Given the description of an element on the screen output the (x, y) to click on. 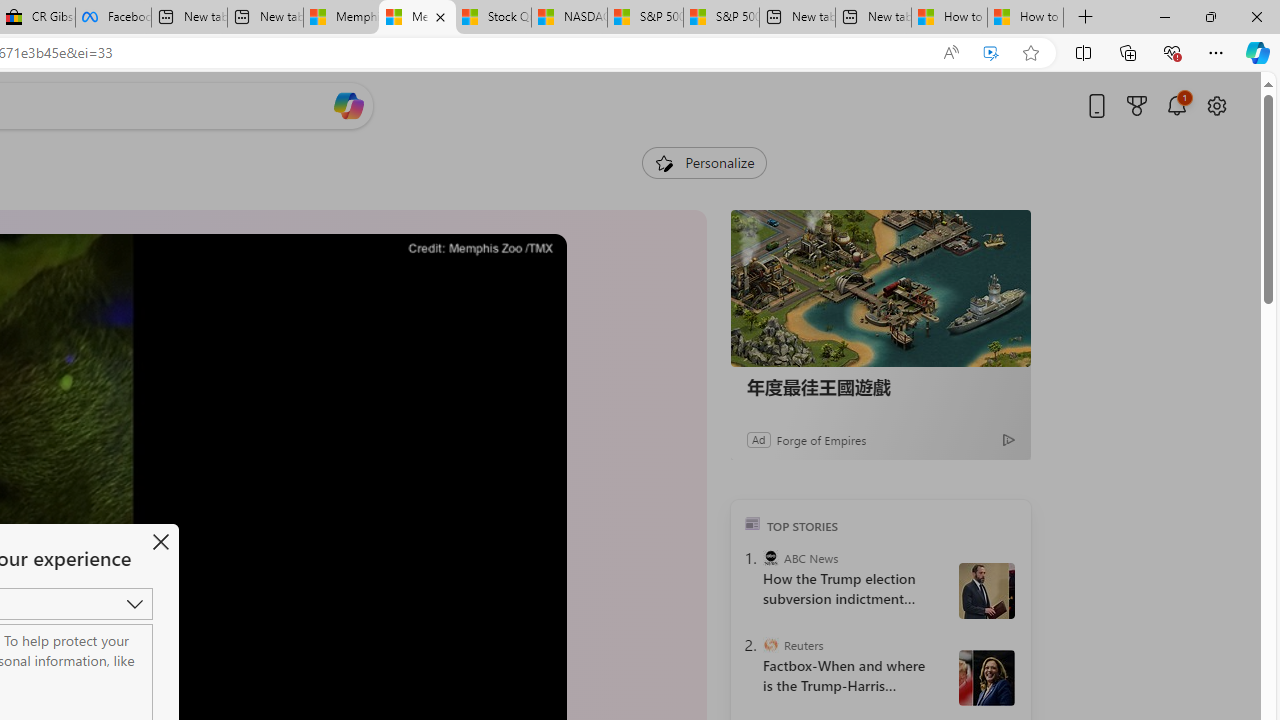
Reuters (770, 645)
Enhance video (991, 53)
Forge of Empires (820, 439)
